Given the description of an element on the screen output the (x, y) to click on. 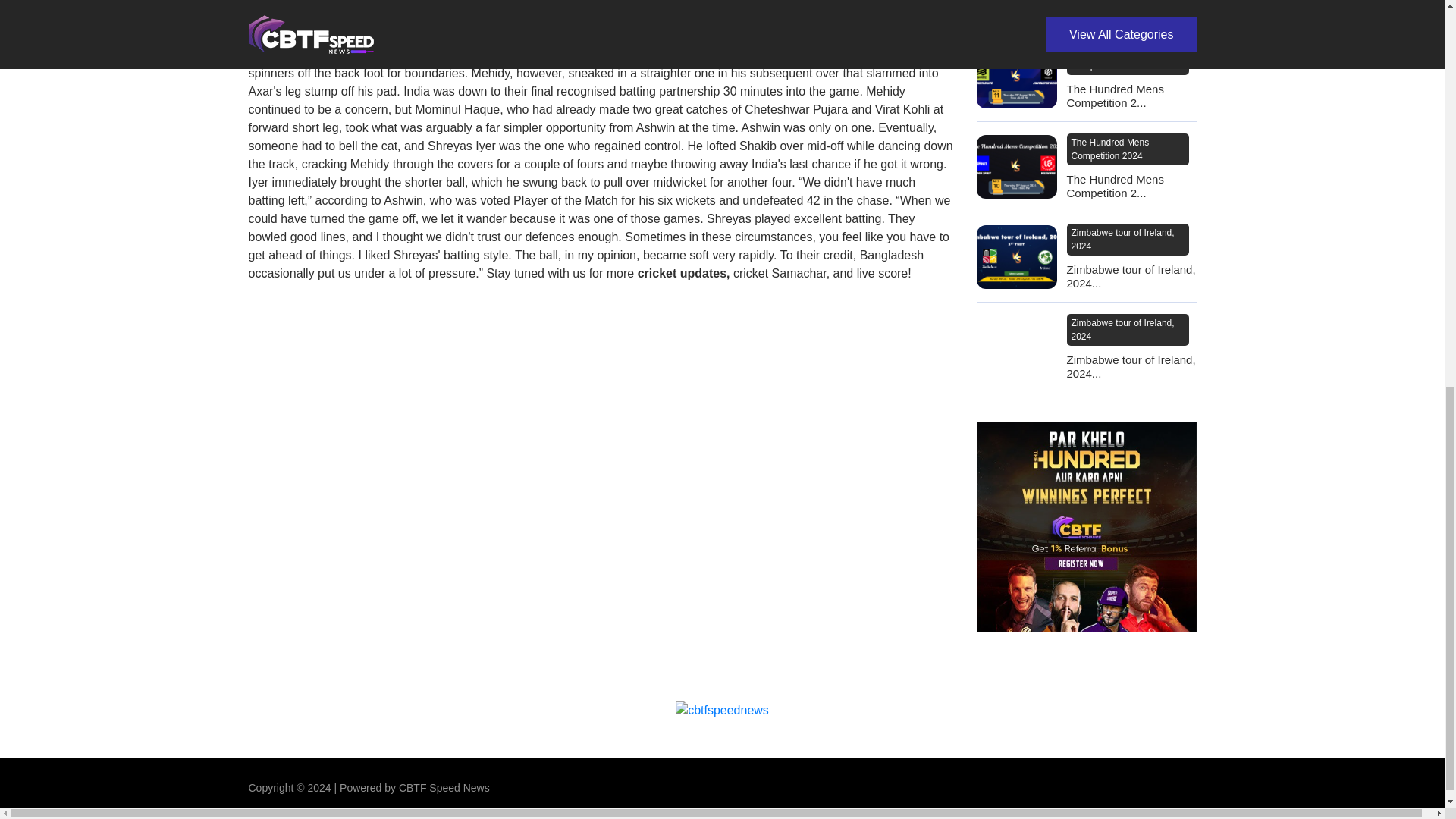
Zimbabwe tour of Ireland, 2024... (1130, 366)
The Hundred Mens Competition 2024 (1126, 59)
Tamil Nadu Premier League 2024... (1130, 9)
The Hundred Mens Competition 2... (1130, 185)
The Hundred Mens Competition 2024 (1126, 149)
The Hundred Mens Competition 2... (1130, 95)
Zimbabwe tour of Ireland, 2024 (1126, 239)
Zimbabwe tour of Ireland, 2024 (1126, 329)
Zimbabwe tour of Ireland, 2024... (1130, 276)
